Given the description of an element on the screen output the (x, y) to click on. 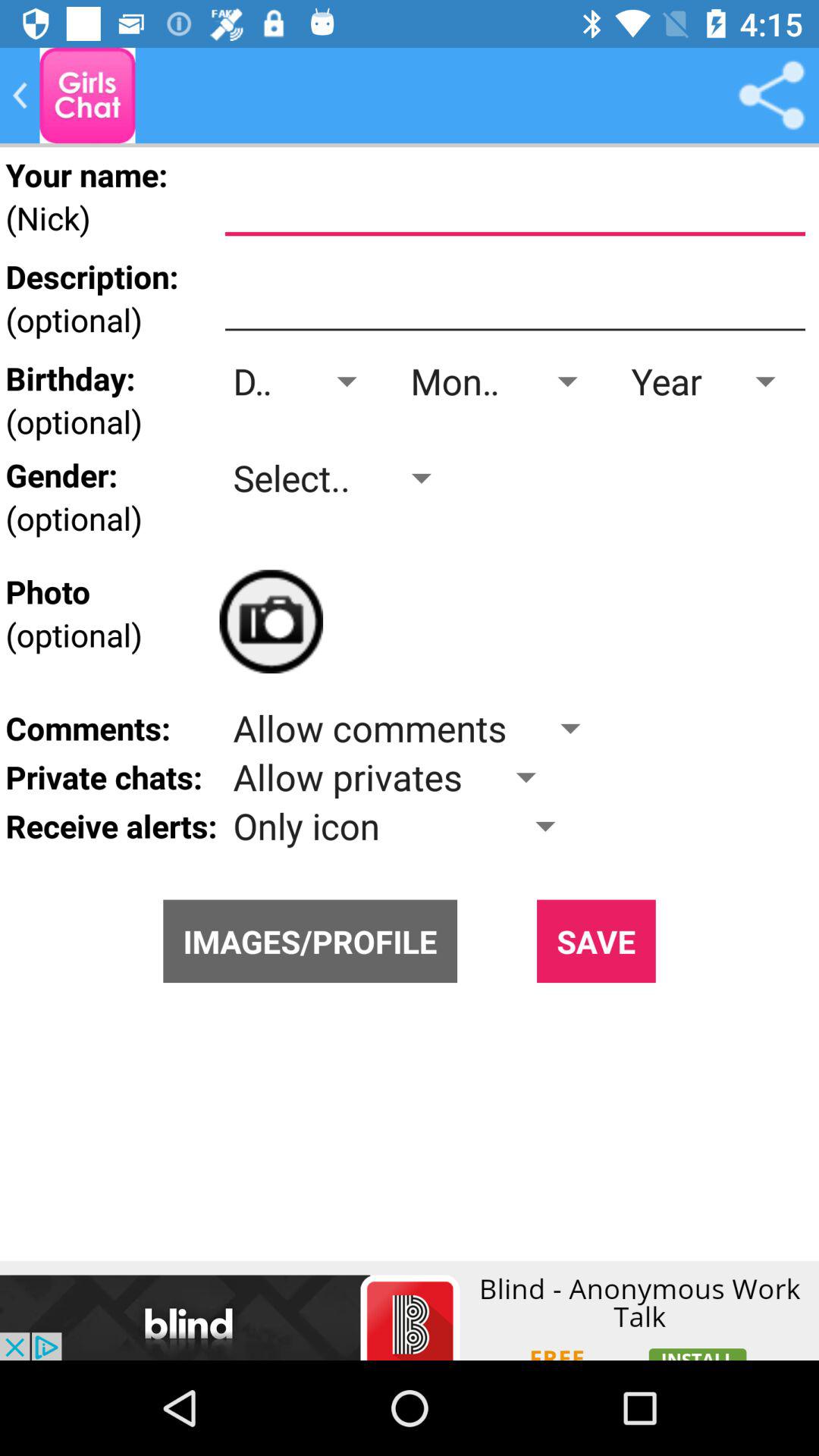
share app with others (771, 95)
